Given the description of an element on the screen output the (x, y) to click on. 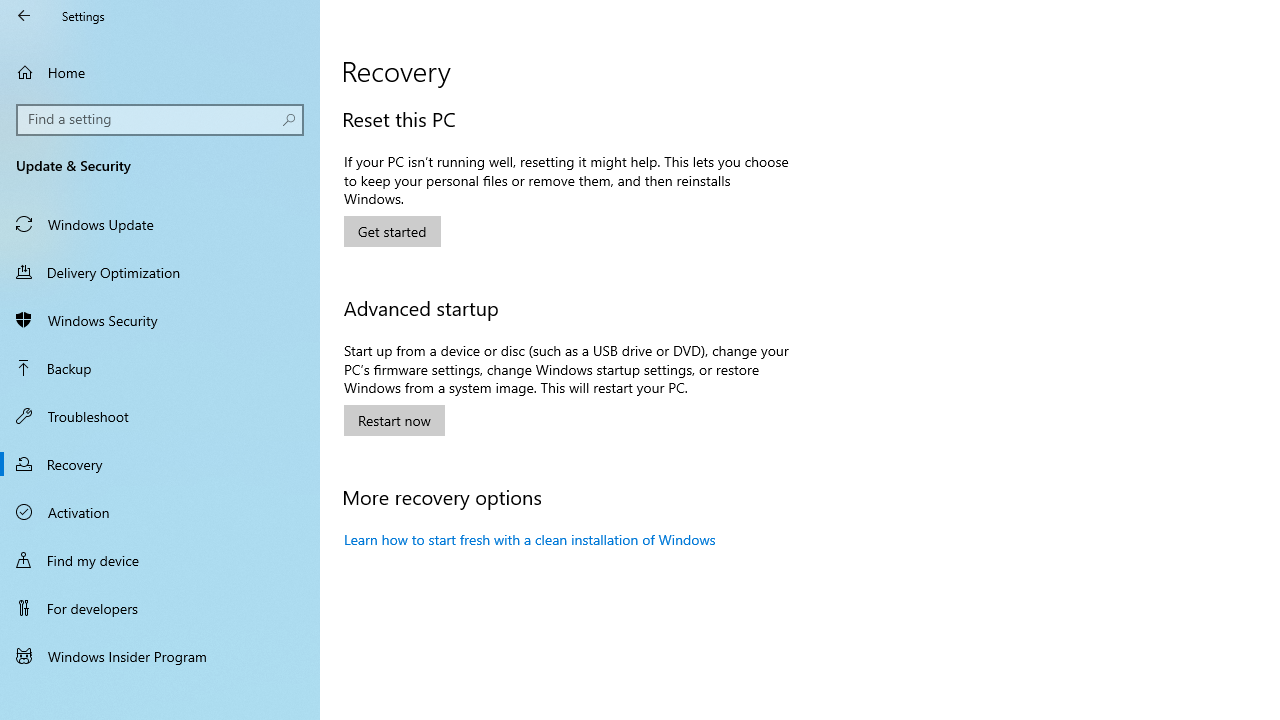
Windows Security (160, 319)
Windows Update (160, 223)
Activation (160, 511)
Backup (160, 367)
Back (24, 15)
Search box, Find a setting (160, 119)
Windows Insider Program (160, 655)
Restart now to view advanced startup options (394, 420)
Delivery Optimization (160, 271)
Get started with resetting this PC (392, 231)
Find my device (160, 559)
Recovery (160, 463)
For developers (160, 607)
Troubleshoot (160, 415)
